Given the description of an element on the screen output the (x, y) to click on. 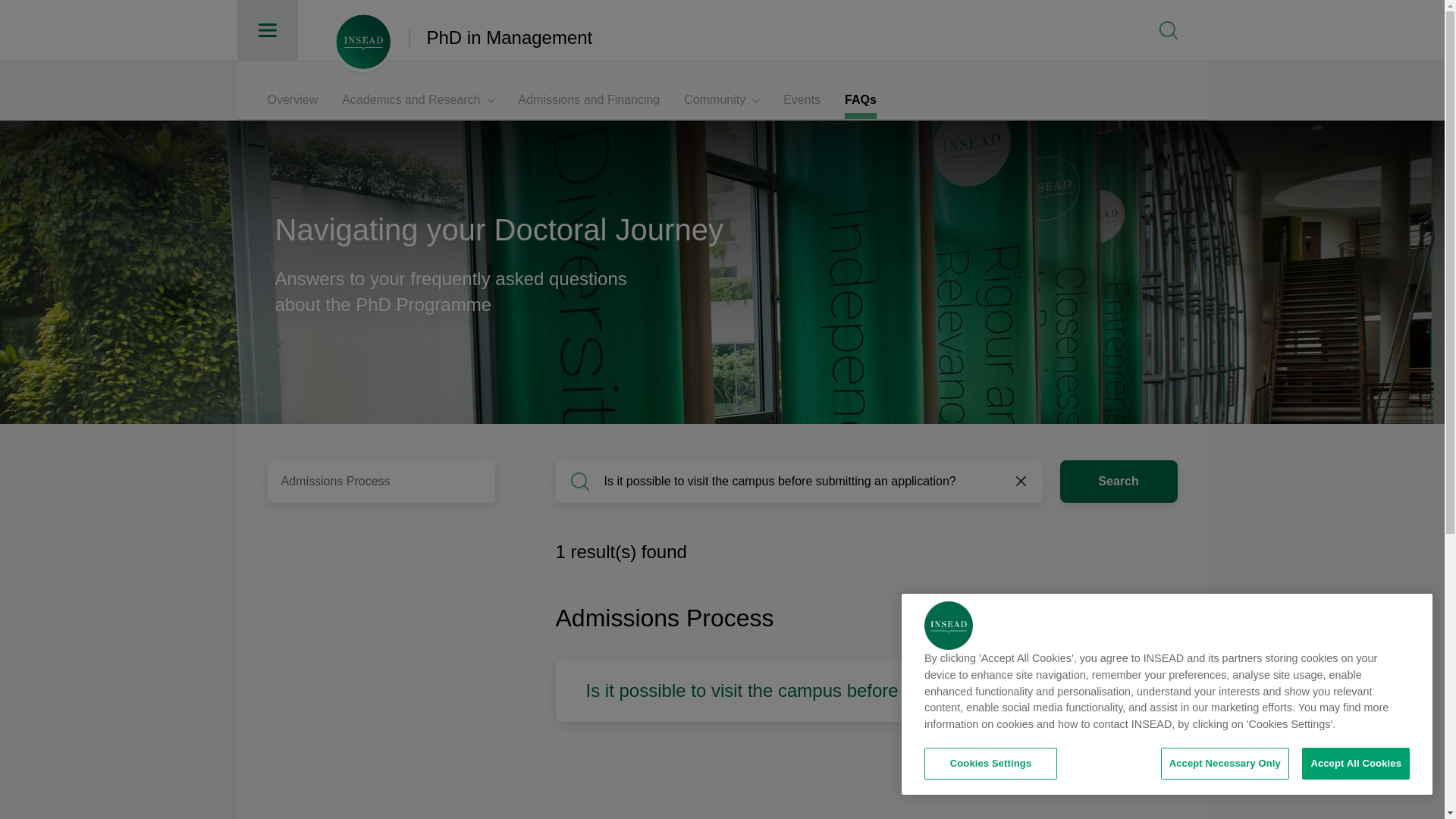
Search (1118, 481)
